Given the description of an element on the screen output the (x, y) to click on. 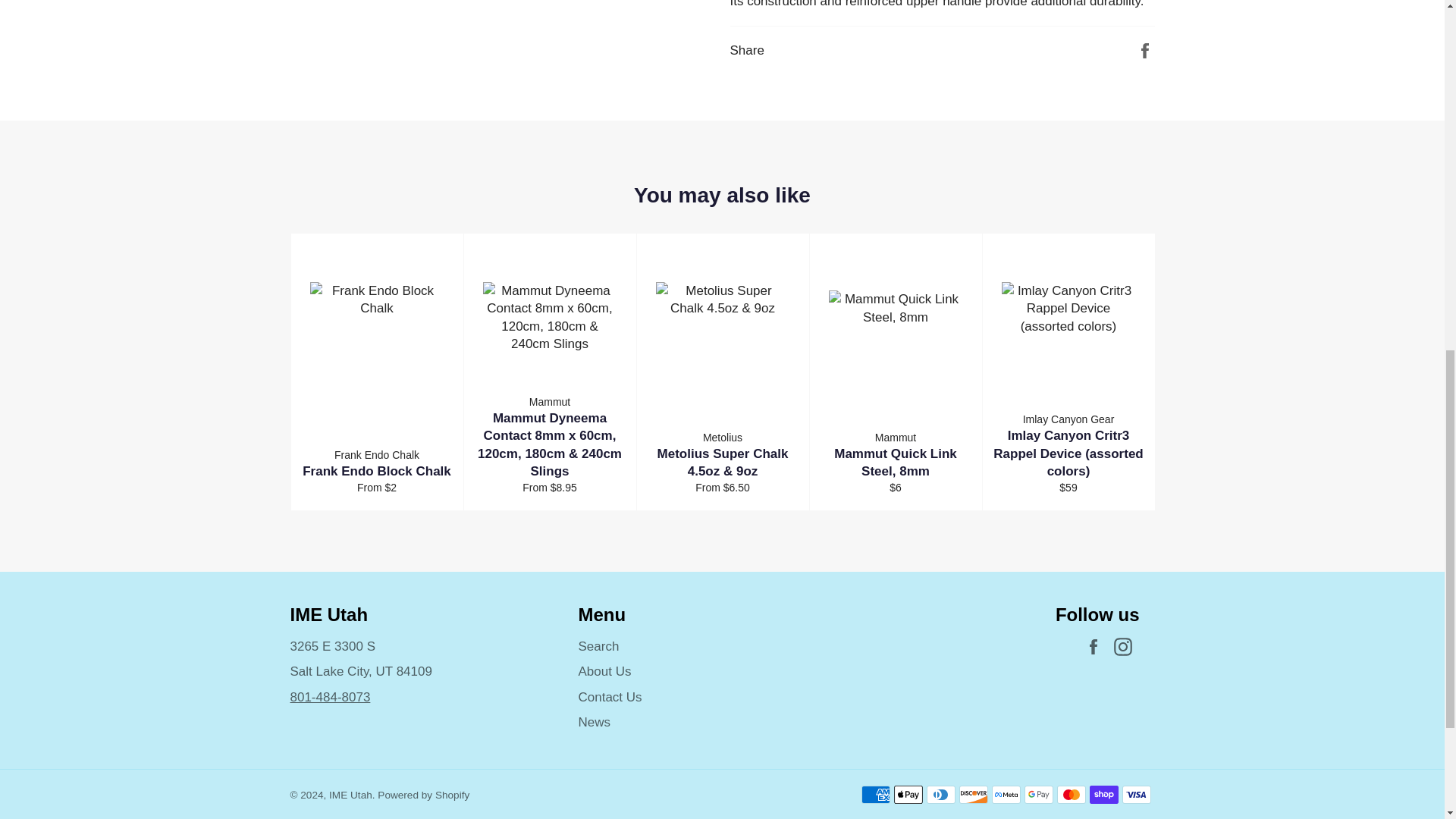
IME Utah on Instagram (1125, 647)
Share on Facebook (1144, 50)
IME Utah on Facebook (1096, 647)
